Given the description of an element on the screen output the (x, y) to click on. 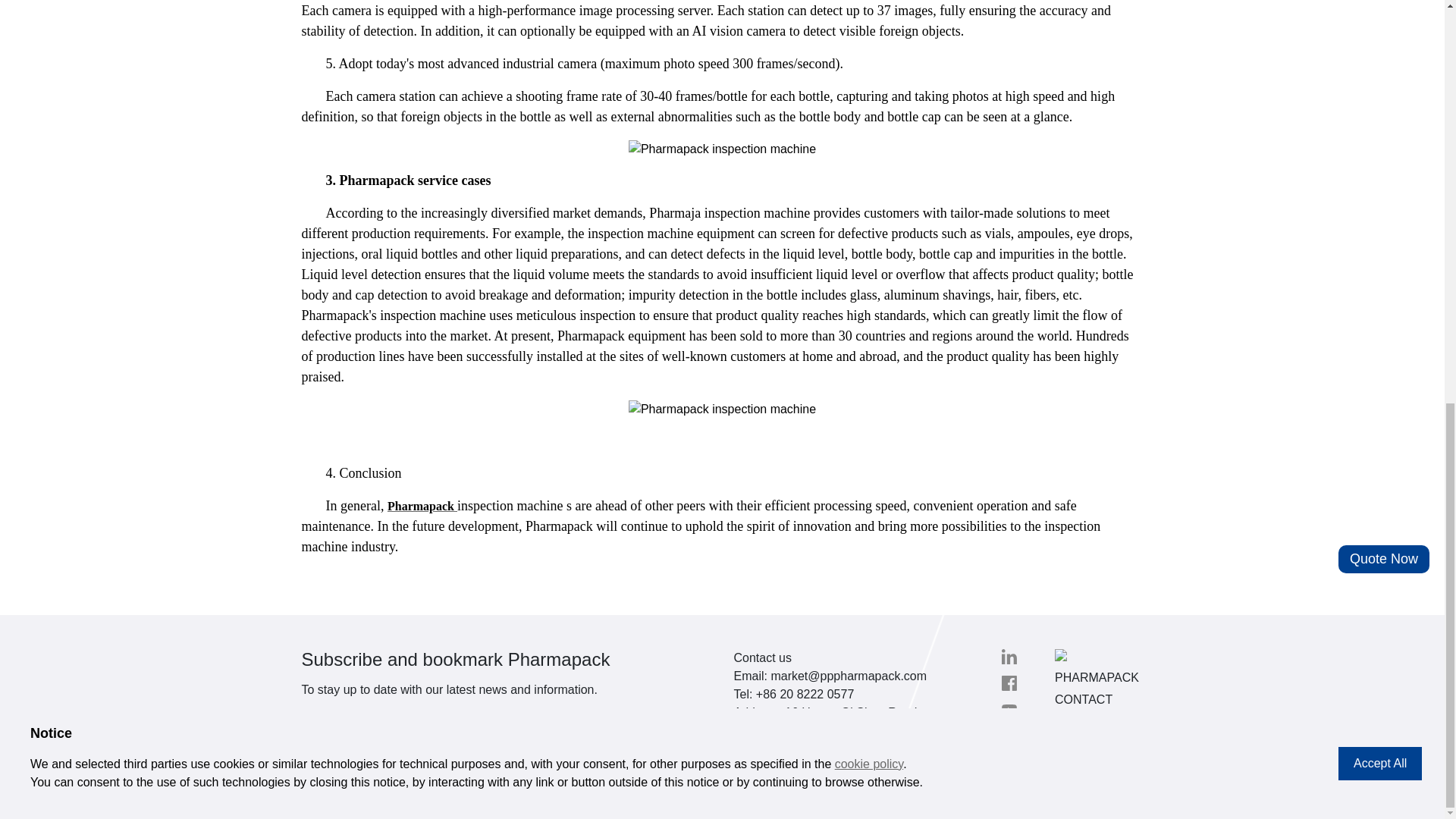
Subscribe (336, 759)
